Given the description of an element on the screen output the (x, y) to click on. 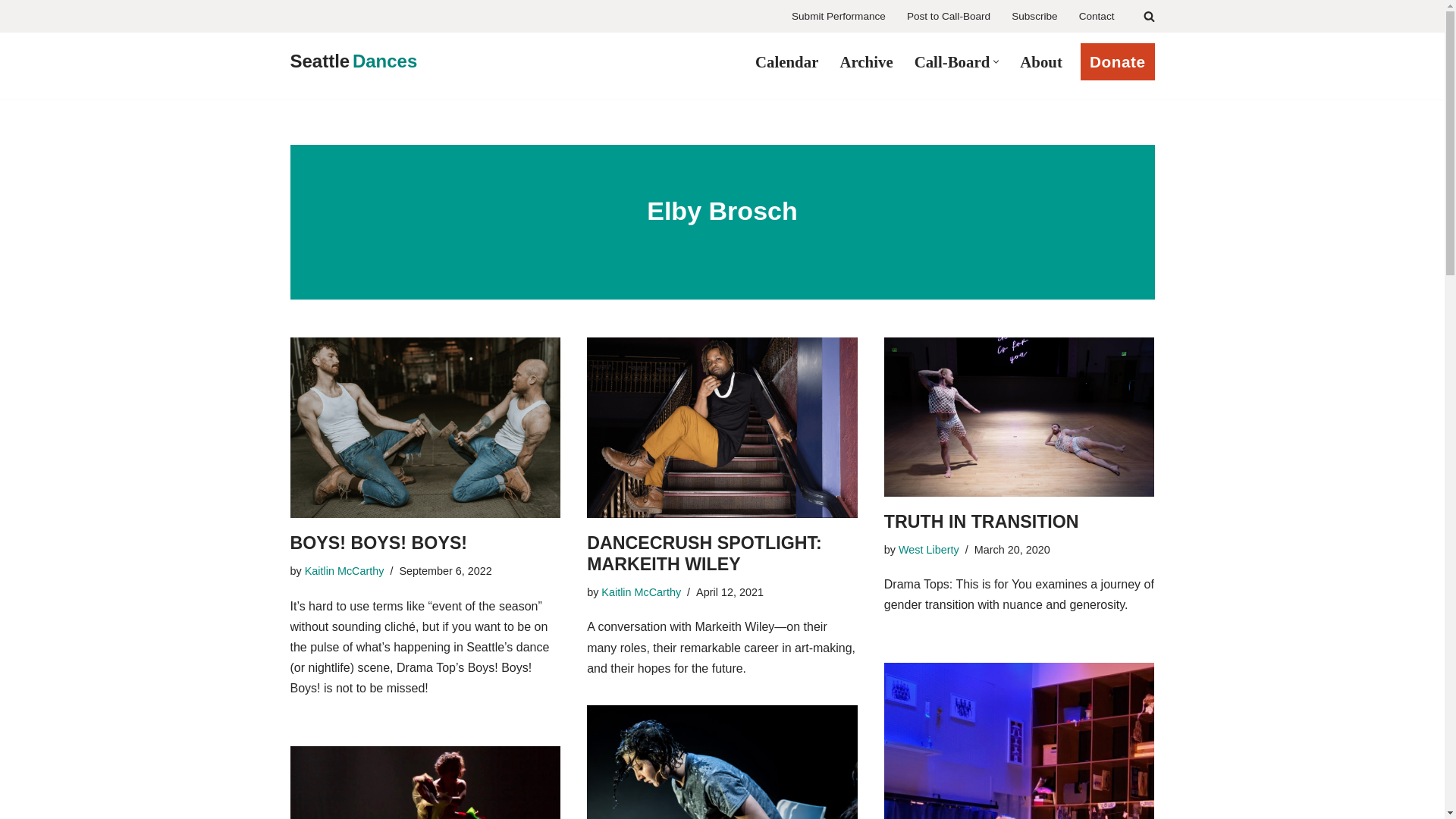
Call-Board (952, 61)
Subscribe (1034, 16)
Post to Call-Board (948, 16)
Archive (866, 61)
Seattle Dances (352, 60)
Posts by Kaitlin McCarthy (344, 571)
Contact (1096, 16)
Boys! Boys! Boys! (424, 427)
Posts by West Liberty (928, 549)
Donate (1117, 61)
Skip to content (11, 31)
DANCECRUSH SPOTLIGHT: MARKEITH WILEY (721, 427)
Posts by Kaitlin McCarthy (641, 592)
TRUTH IN TRANSITION (1018, 416)
